Given the description of an element on the screen output the (x, y) to click on. 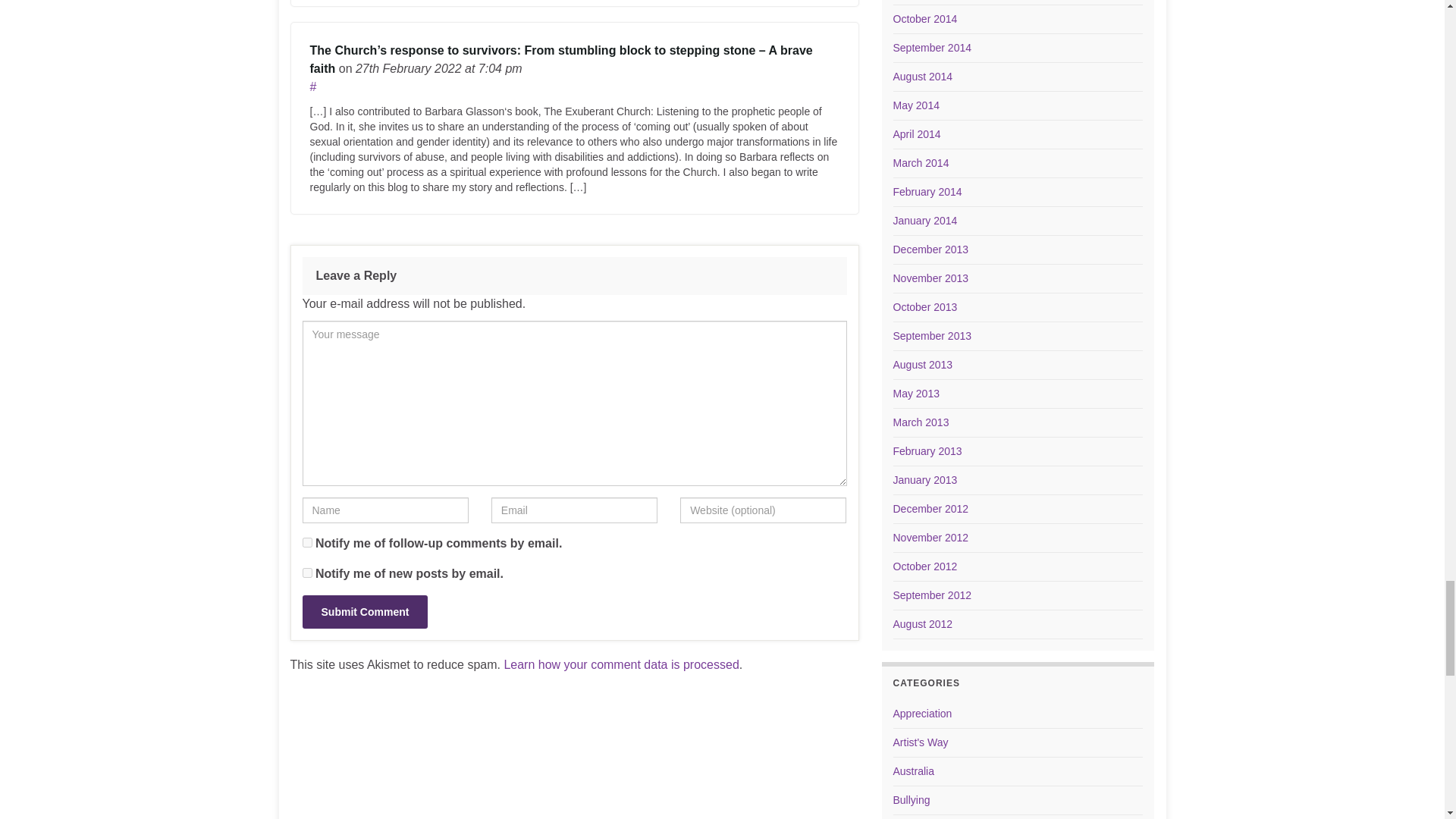
Submit Comment (364, 611)
subscribe (306, 542)
subscribe (306, 573)
